Given the description of an element on the screen output the (x, y) to click on. 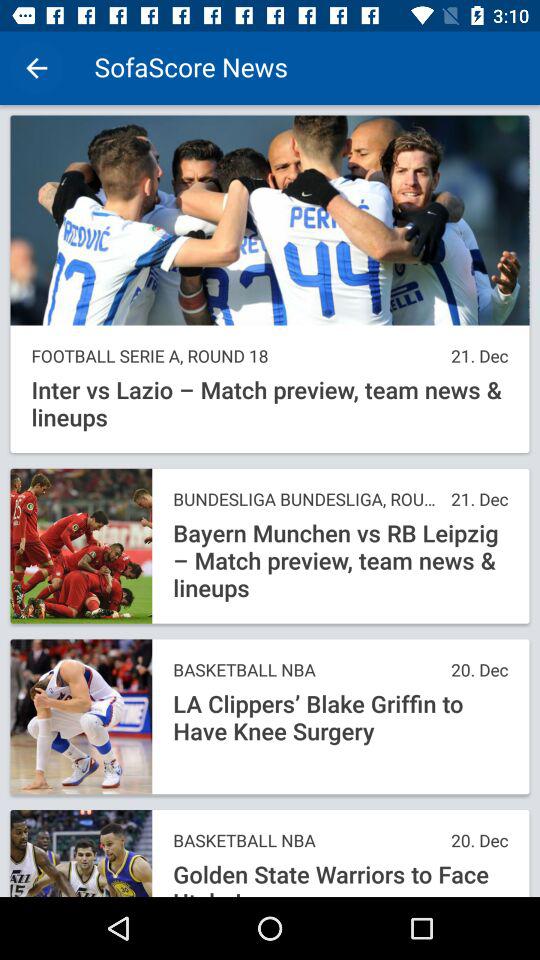
select item to the left of the sofascore news icon (36, 68)
